Given the description of an element on the screen output the (x, y) to click on. 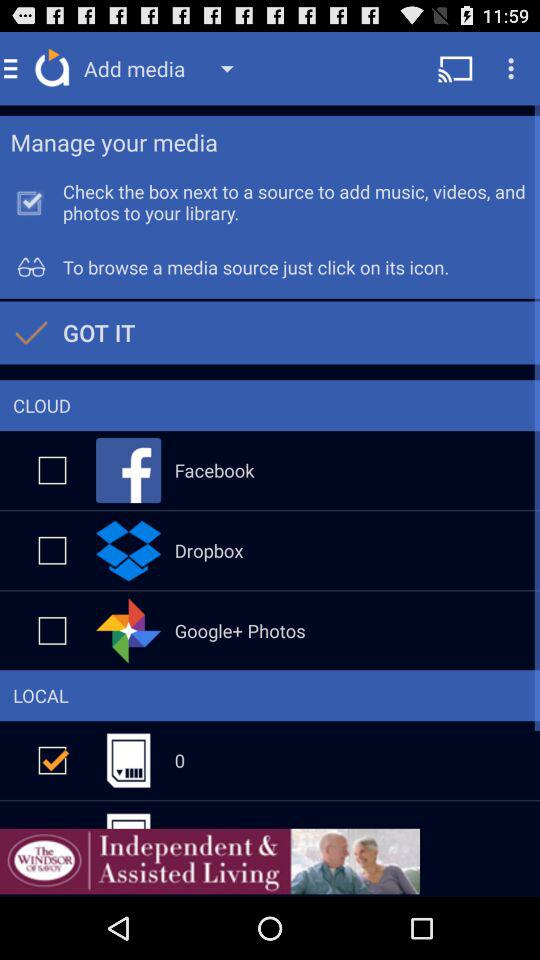
logon (52, 630)
